Given the description of an element on the screen output the (x, y) to click on. 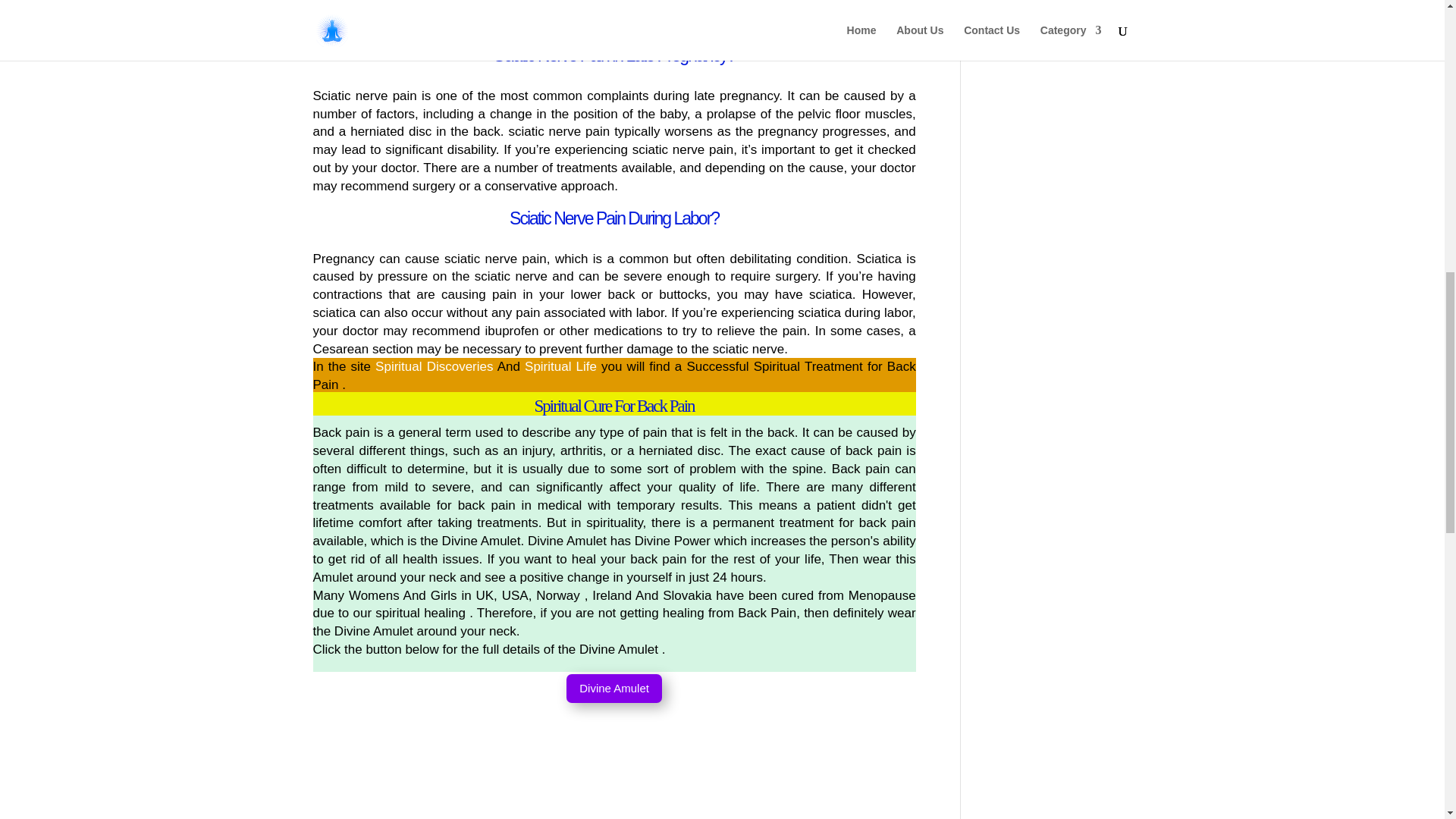
Spiritual Discoveries (434, 366)
Spiritual Life (560, 366)
Divine Amulet (614, 688)
